Given the description of an element on the screen output the (x, y) to click on. 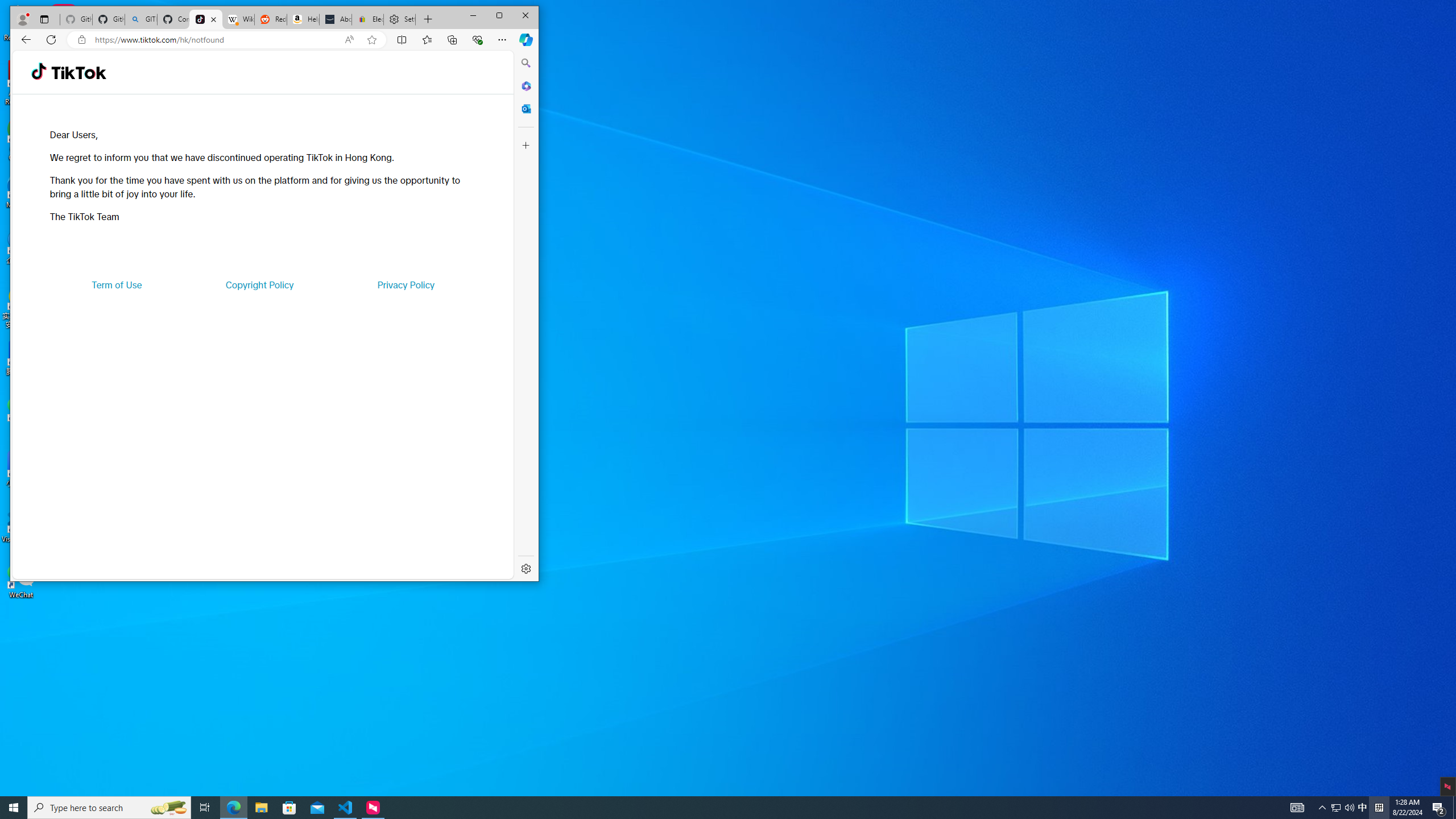
User Promoted Notification Area (1342, 807)
Type here to search (1362, 807)
TikTok (108, 807)
Microsoft Edge - 1 running window (78, 72)
Privacy Policy (233, 807)
Task View (405, 284)
